Given the description of an element on the screen output the (x, y) to click on. 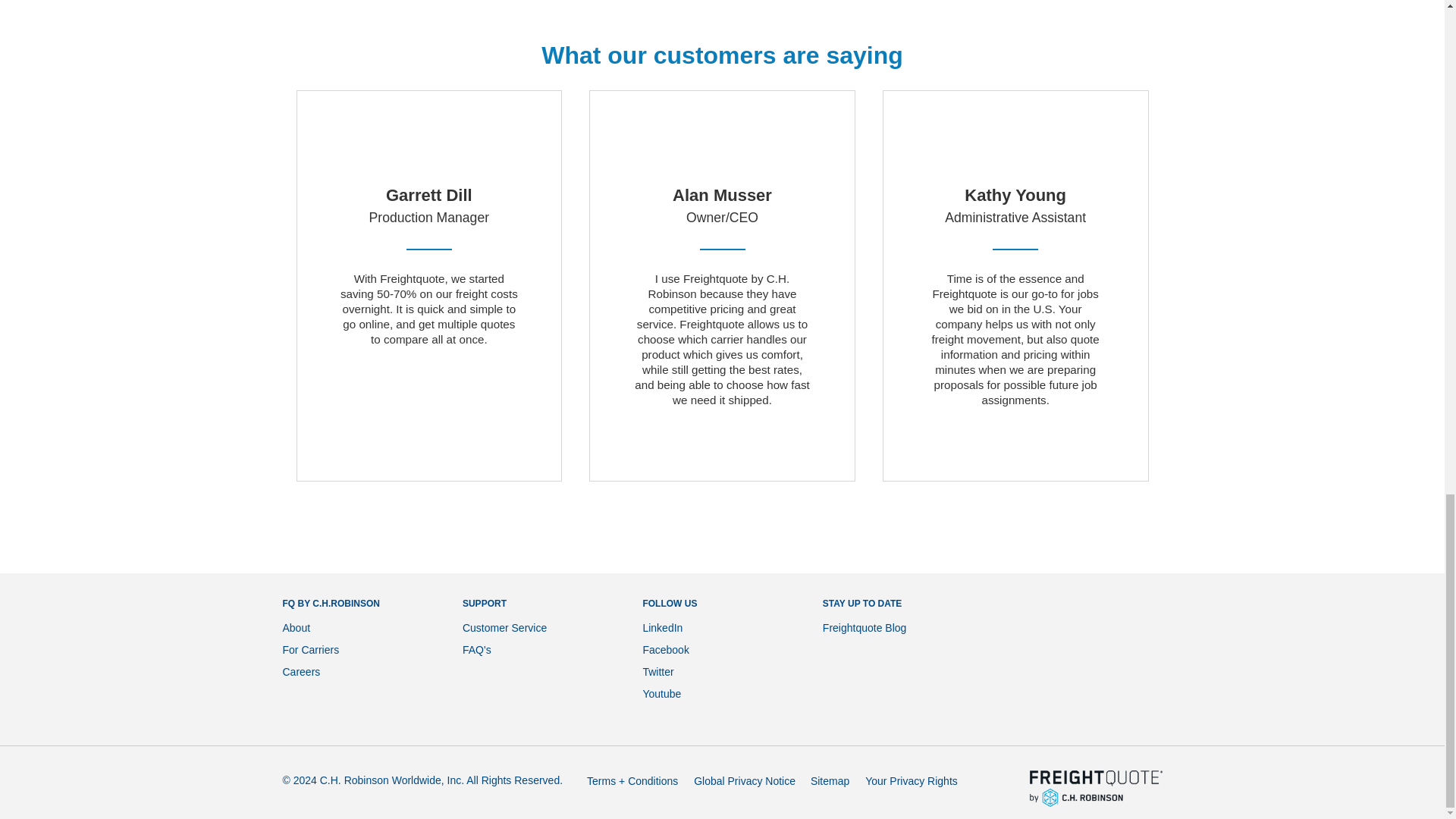
About (296, 627)
Customer Service (505, 627)
About (296, 627)
